Given the description of an element on the screen output the (x, y) to click on. 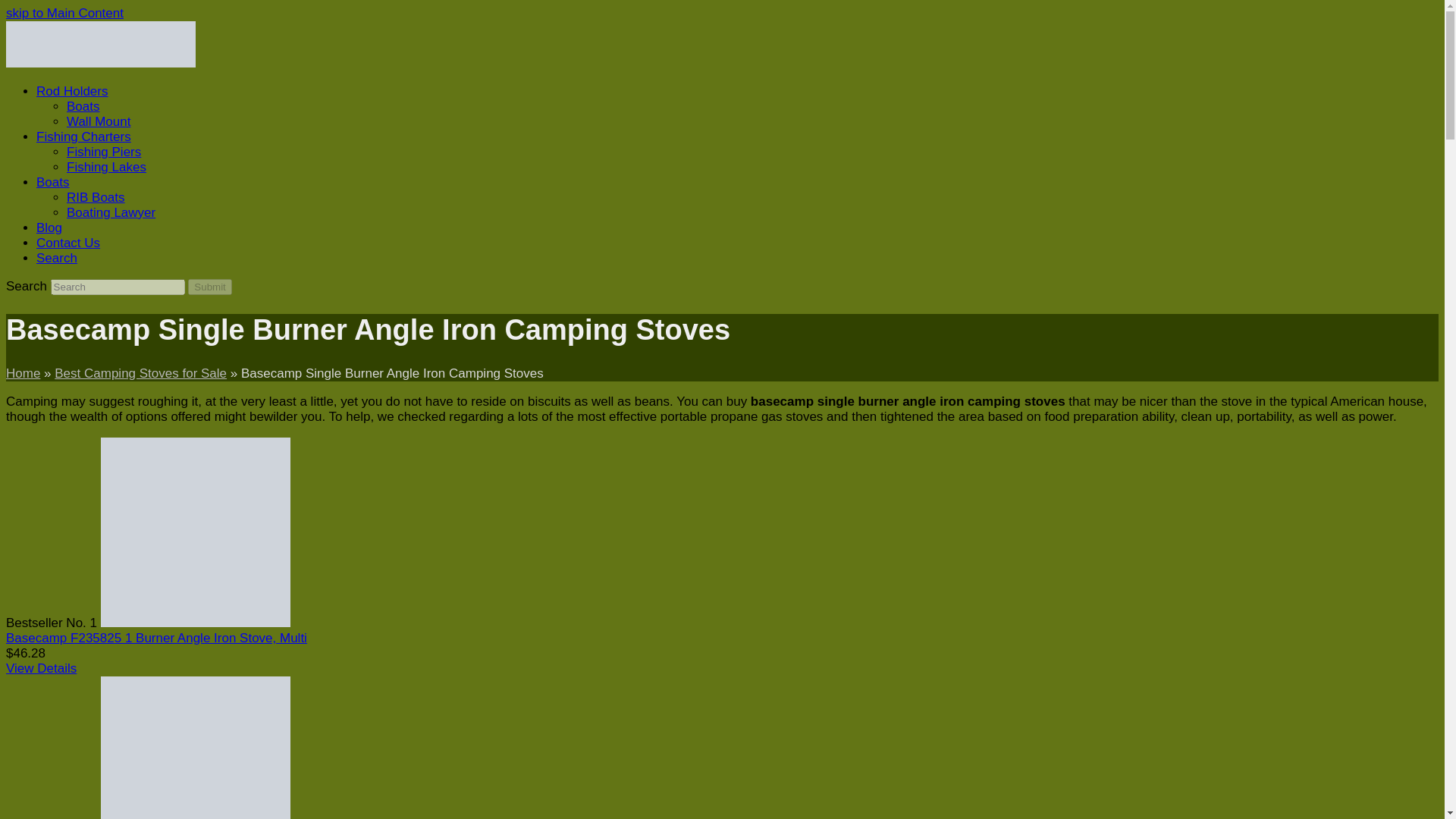
View Details (41, 667)
Submit (209, 286)
View Details (41, 667)
Boats (82, 106)
Search (56, 257)
Basecamp F235825 1 Burner Angle Iron Stove, Multi (194, 622)
Boating Lawyer (110, 212)
Fishing Piers (103, 151)
Blog (49, 227)
Fishing Charters (83, 136)
Basecamp F235825 1 Burner Angle Iron Stove, Multi (156, 637)
Wall Mount (98, 121)
Basecamp F235825 1 Burner Angle Iron Stove, Multi (156, 637)
Best Camping Stoves for Sale (141, 373)
RIB Boats (95, 197)
